Given the description of an element on the screen output the (x, y) to click on. 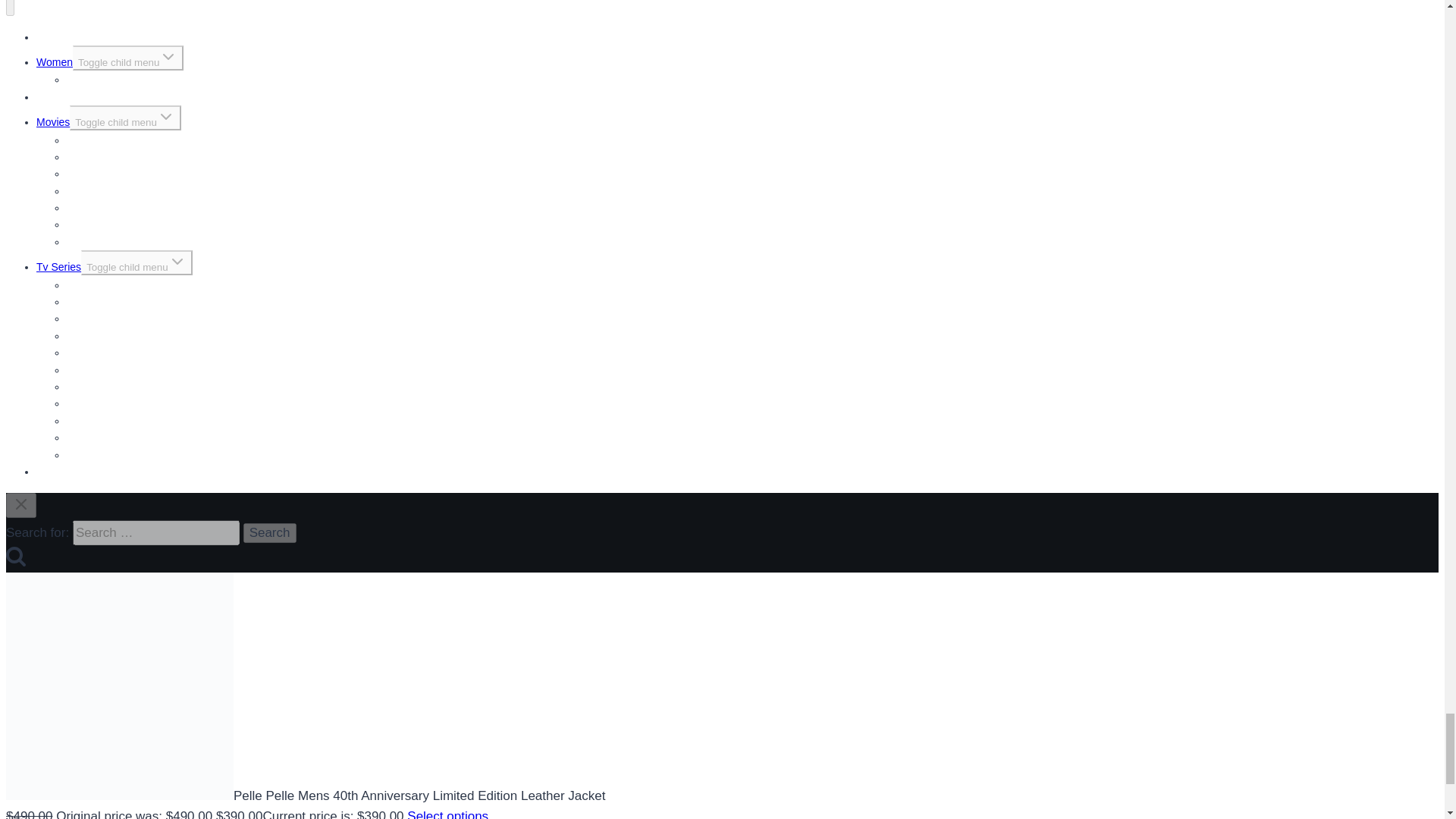
Search (270, 532)
Search (270, 532)
